Given the description of an element on the screen output the (x, y) to click on. 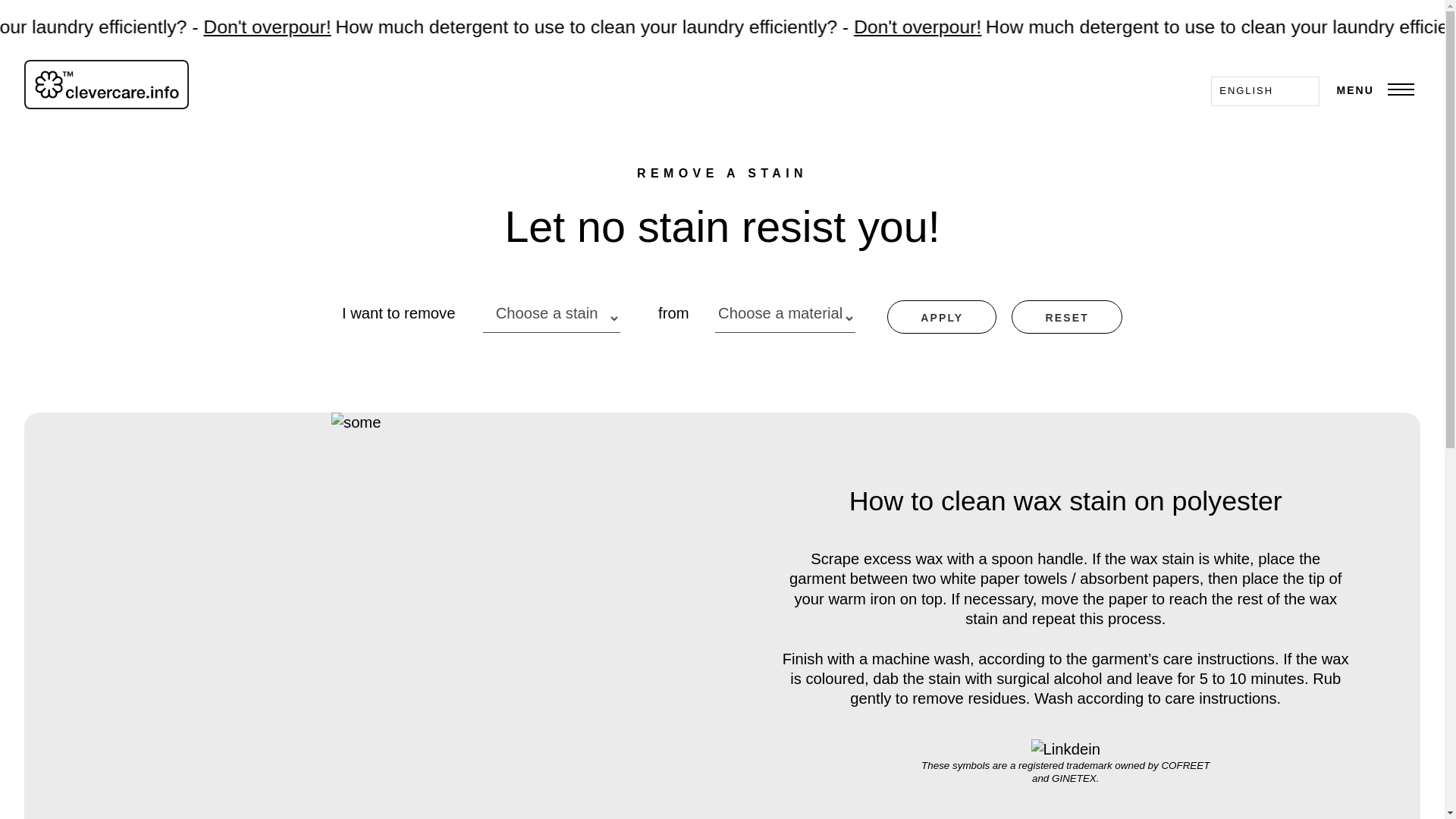
Don't overpour! (1215, 32)
Reset (1066, 316)
Reset (1066, 316)
Apply (940, 316)
